Given the description of an element on the screen output the (x, y) to click on. 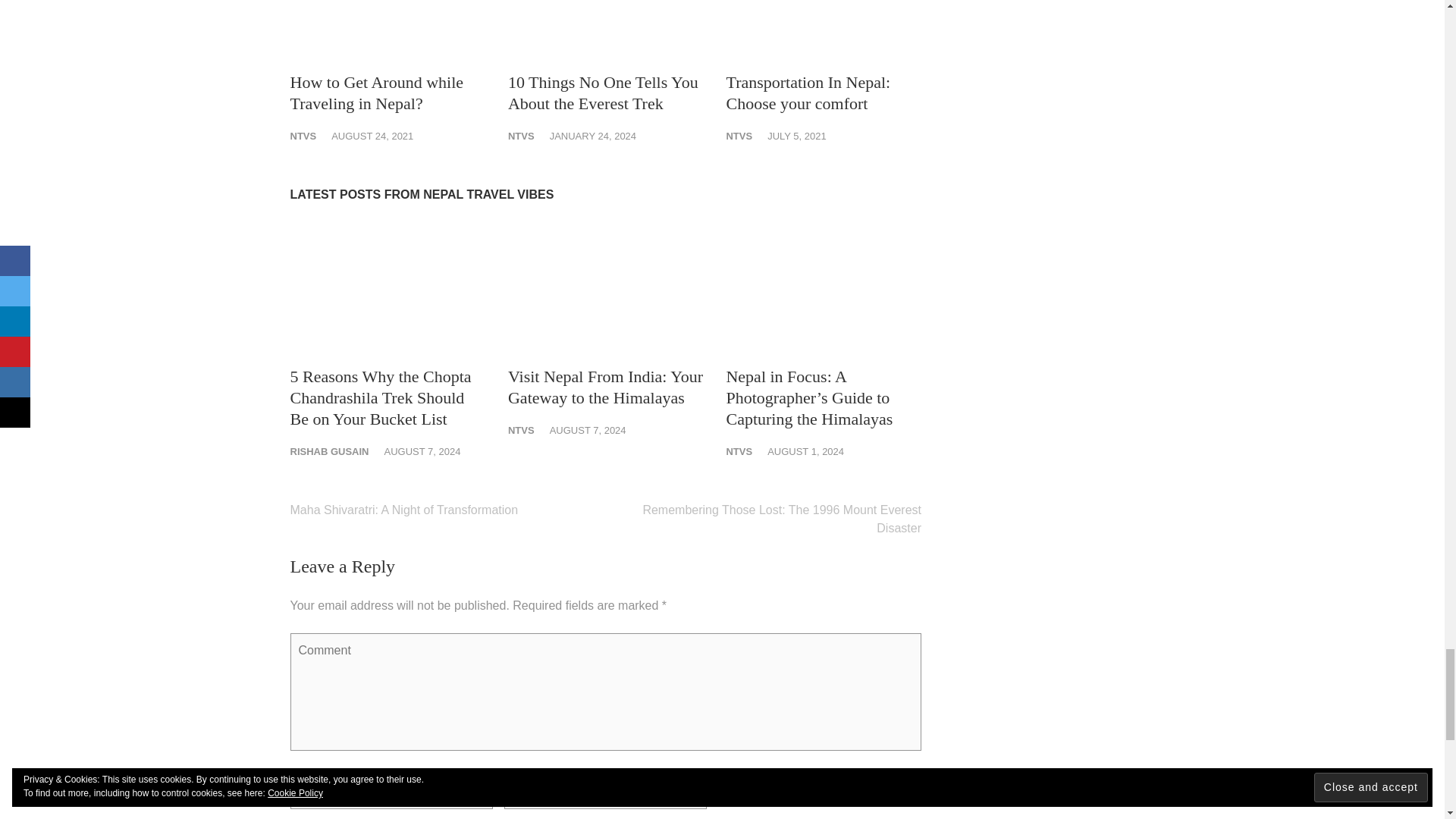
yes (721, 782)
